Given the description of an element on the screen output the (x, y) to click on. 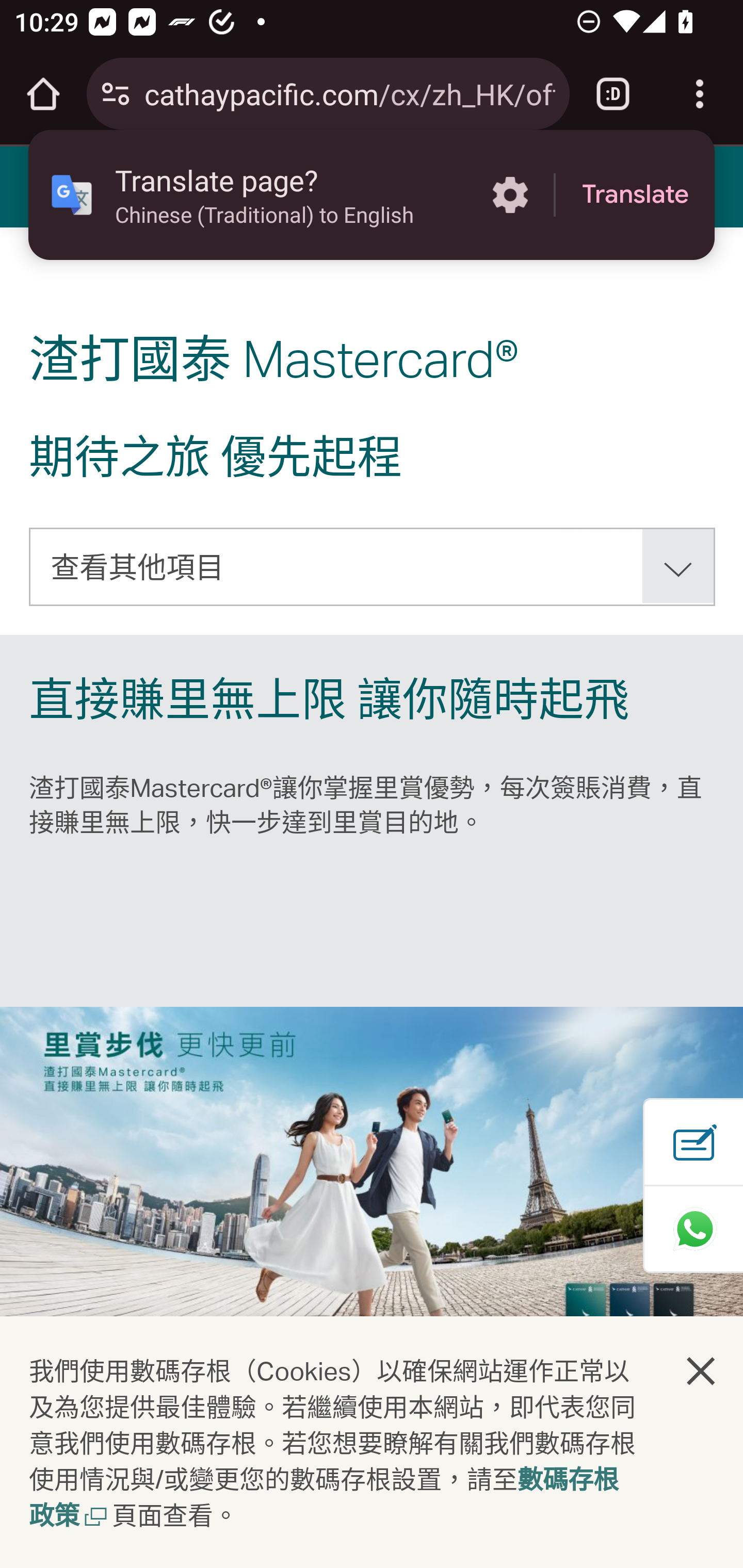
Open the home page (43, 93)
Connection is secure (115, 93)
Switch or close tabs (612, 93)
Customize and control Google Chrome (699, 93)
Translate (634, 195)
More options in the Translate page? (509, 195)
查看其他項目 (372, 566)
關閉 (701, 1370)
數碼存根政策, 在新窗口中打开 數碼存根政策 開啟新視窗 (323, 1498)
